Given the description of an element on the screen output the (x, y) to click on. 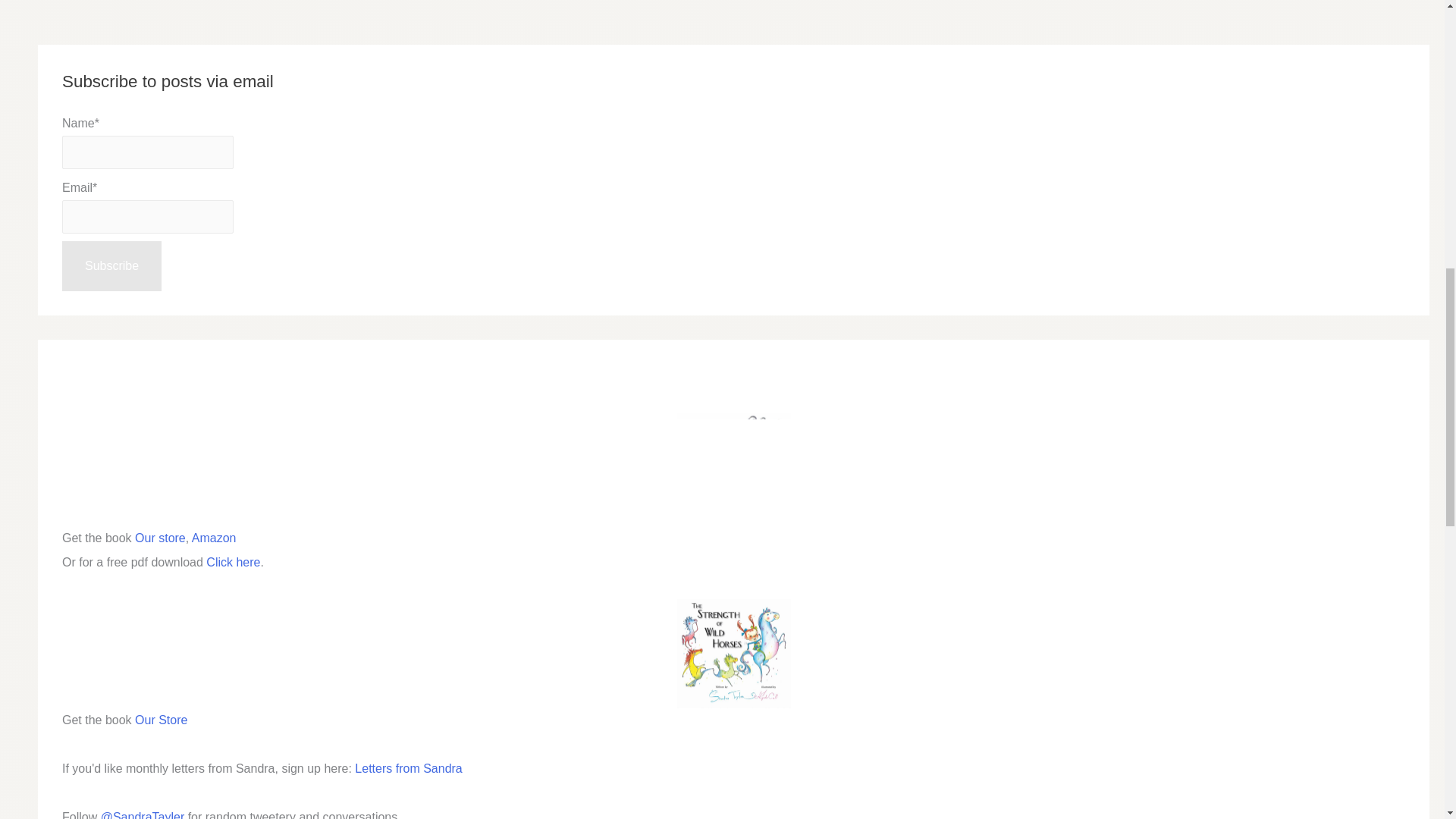
Front Cover web (733, 469)
Front Cover web (733, 653)
Our store (160, 537)
Click here (233, 562)
Subscribe (111, 265)
Our Store (161, 719)
Letters from Sandra (408, 768)
Subscribe (111, 265)
Amazon (213, 537)
